Given the description of an element on the screen output the (x, y) to click on. 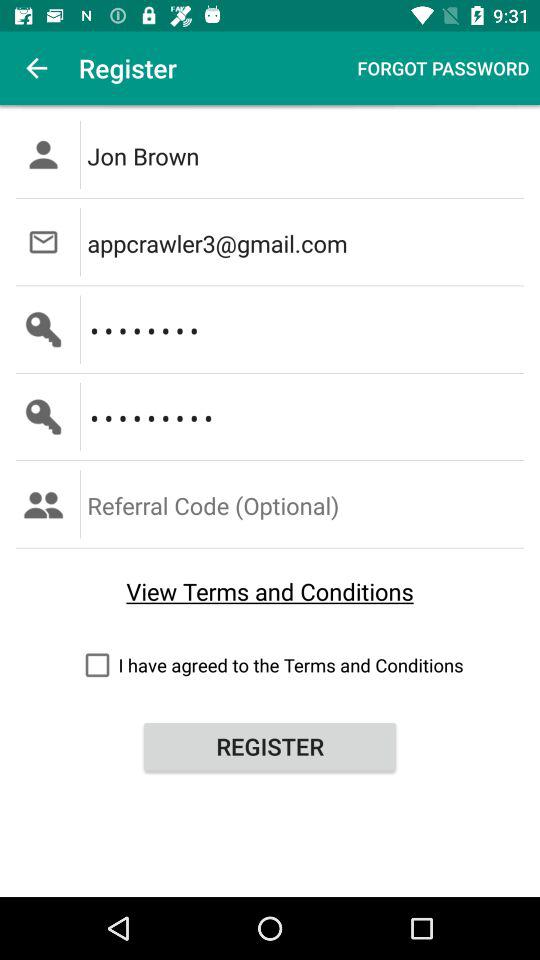
select item to the right of register (443, 67)
